Given the description of an element on the screen output the (x, y) to click on. 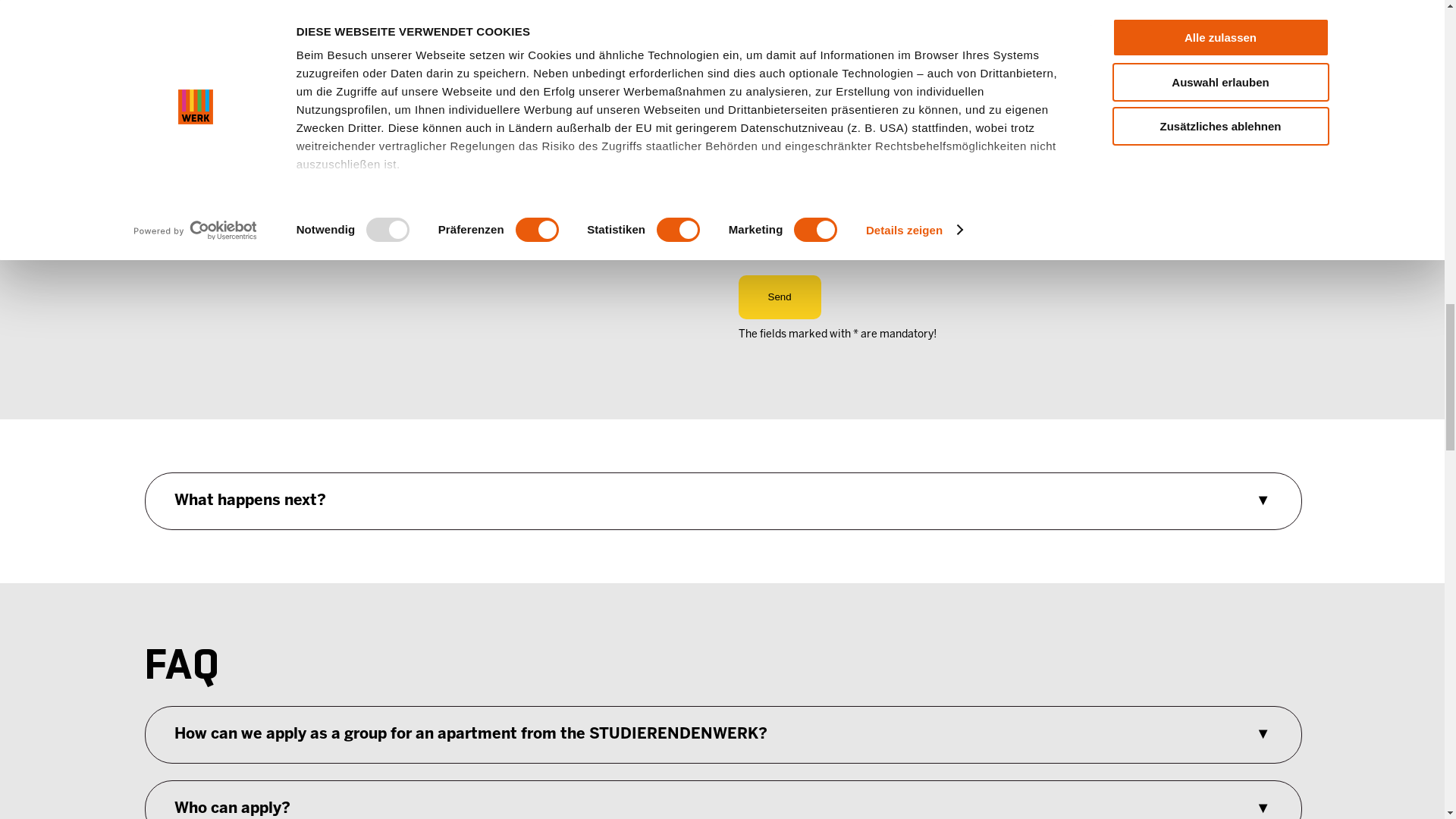
Send (779, 297)
